Given the description of an element on the screen output the (x, y) to click on. 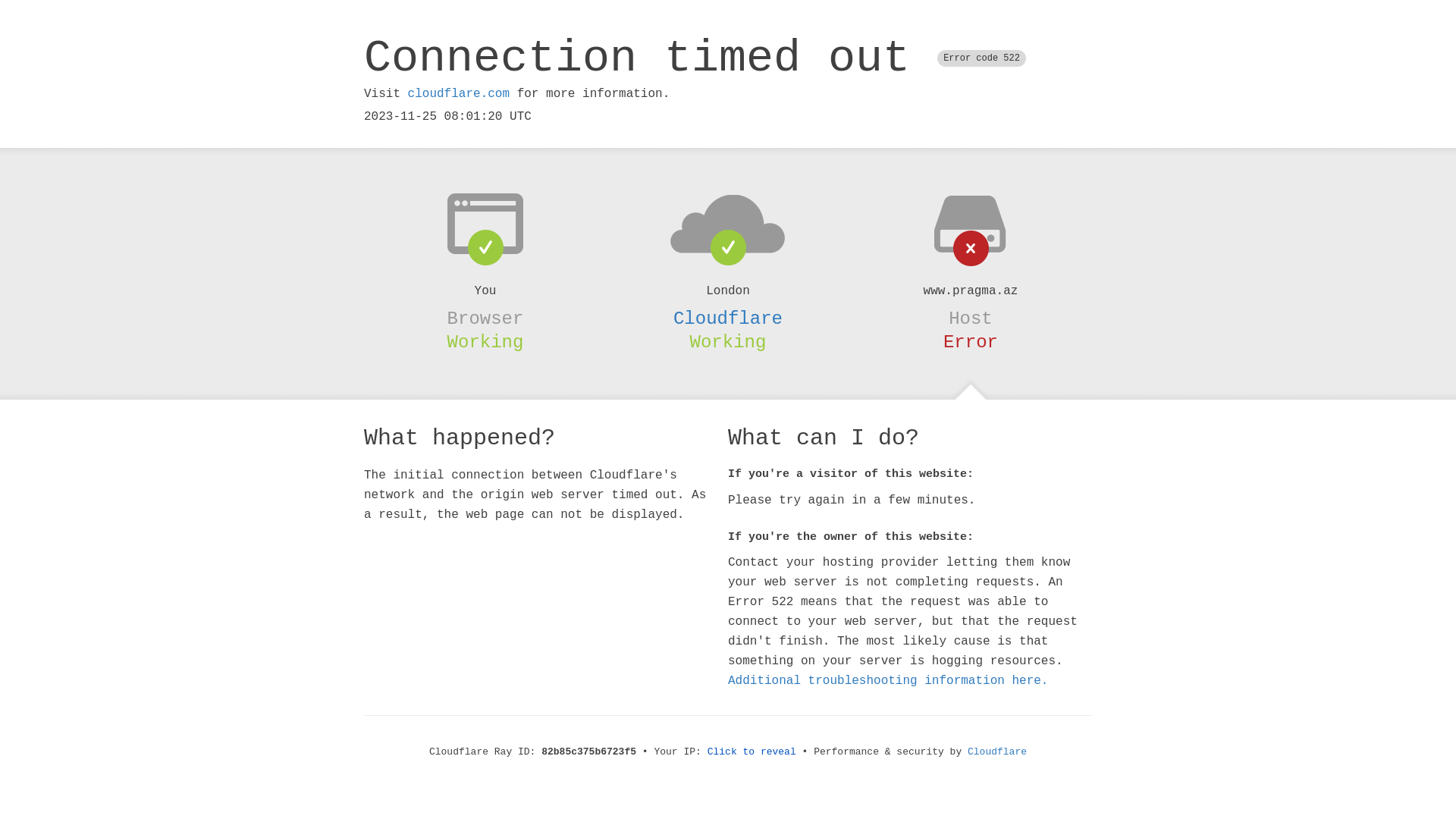
cloudflare.com Element type: text (458, 93)
Cloudflare Element type: text (727, 318)
Cloudflare Element type: text (996, 751)
Click to reveal Element type: text (751, 751)
Additional troubleshooting information here. Element type: text (888, 680)
